Given the description of an element on the screen output the (x, y) to click on. 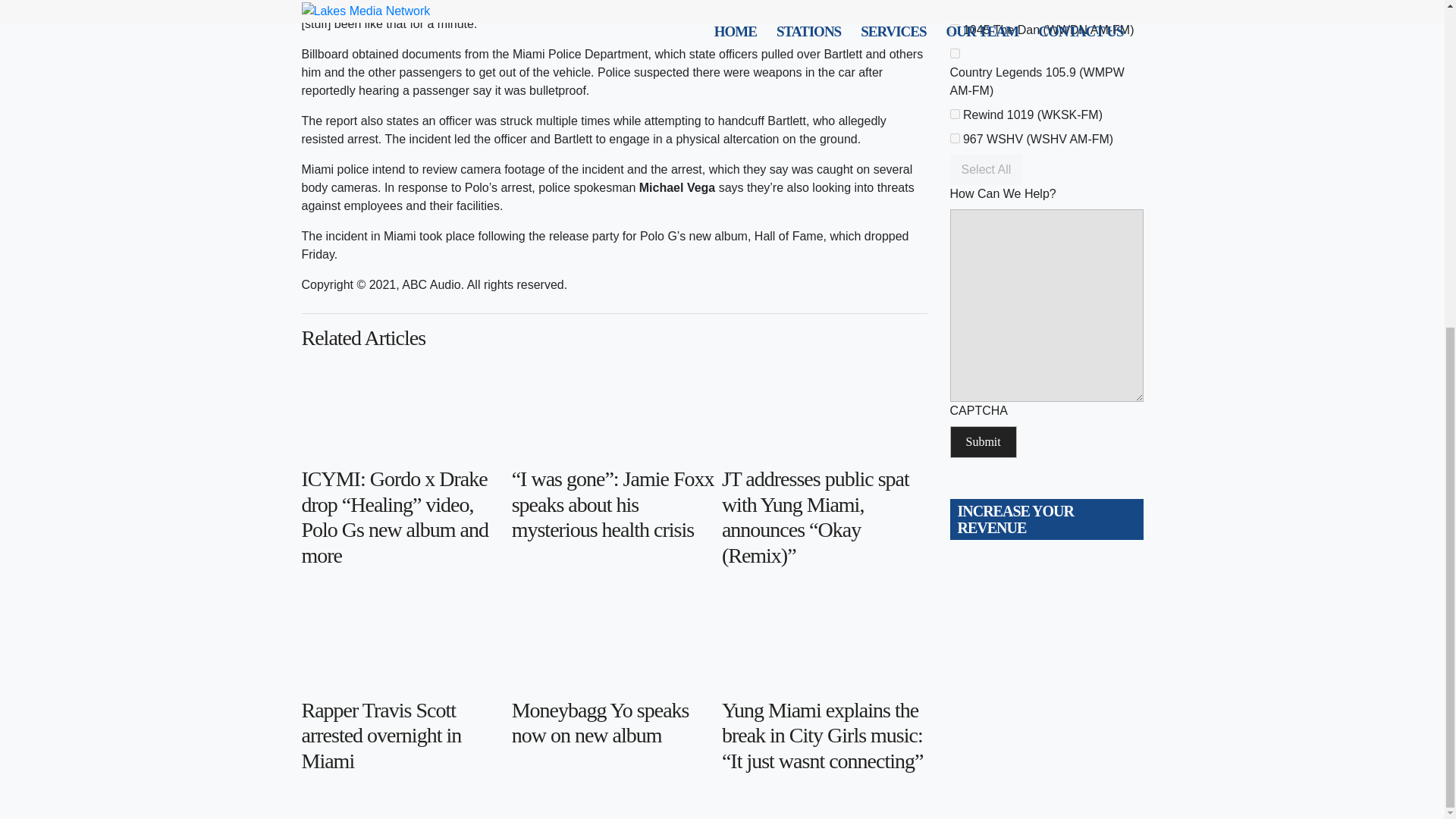
Rapper Travis Scott arrested overnight in Miami (403, 735)
Moneybagg Yo speaks now on new album (614, 722)
Submit (982, 441)
Moneybagg Yo speaks now on new album (614, 640)
Rapper Travis Scott arrested overnight in Miami (403, 640)
